Given the description of an element on the screen output the (x, y) to click on. 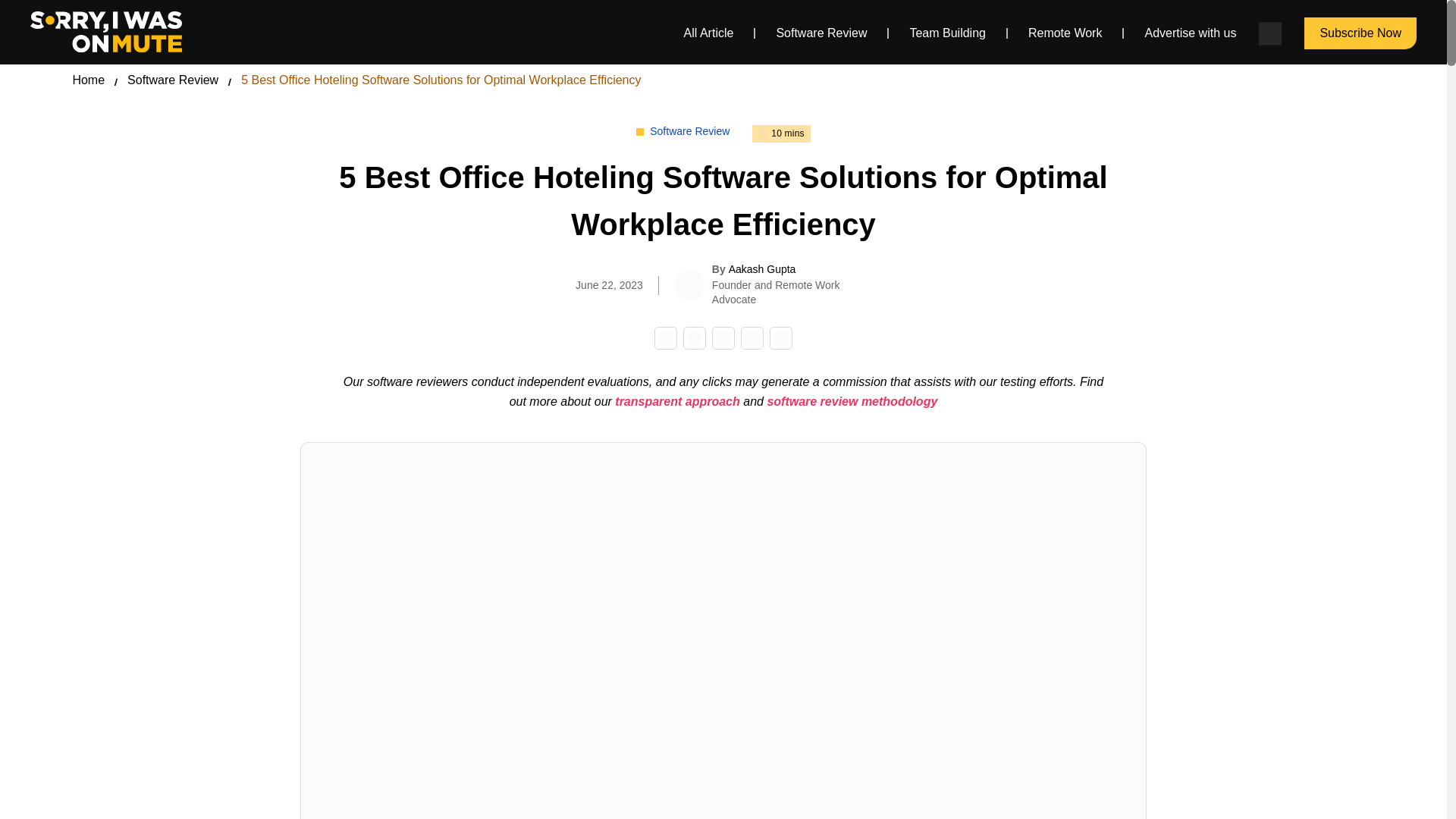
All Article (708, 32)
software review methodology (852, 400)
Remote Work (1064, 32)
Subscribe Now (1360, 33)
Aakash Gupta (762, 268)
Software Review (173, 79)
Home (87, 79)
Advertise with us (1190, 32)
Software Review (821, 32)
Team Building (946, 32)
